Given the description of an element on the screen output the (x, y) to click on. 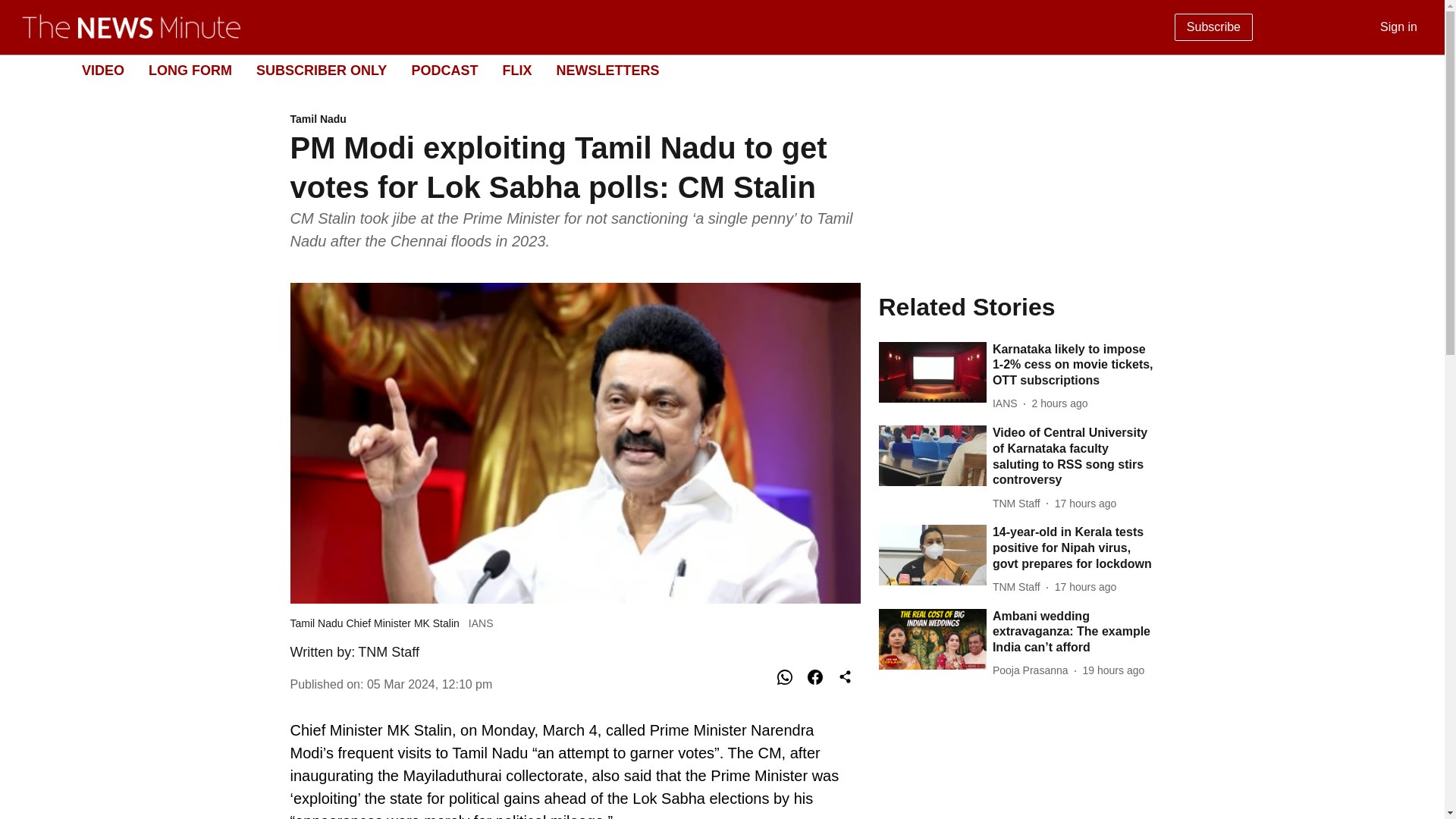
2024-07-20 11:55 (1113, 670)
2024-07-21 04:54 (1059, 403)
PODCAST (443, 70)
2024-07-20 14:00 (1085, 503)
NEWSLETTERS (607, 70)
SUBSCRIBER ONLY (321, 70)
TNM Staff (388, 652)
TNM Staff (1019, 587)
Tamil Nadu (574, 119)
2024-03-05 04:10 (429, 684)
IANS (1007, 403)
FLIX (516, 70)
Dark Mode (1415, 70)
Pooja Prasanna (1033, 670)
